Given the description of an element on the screen output the (x, y) to click on. 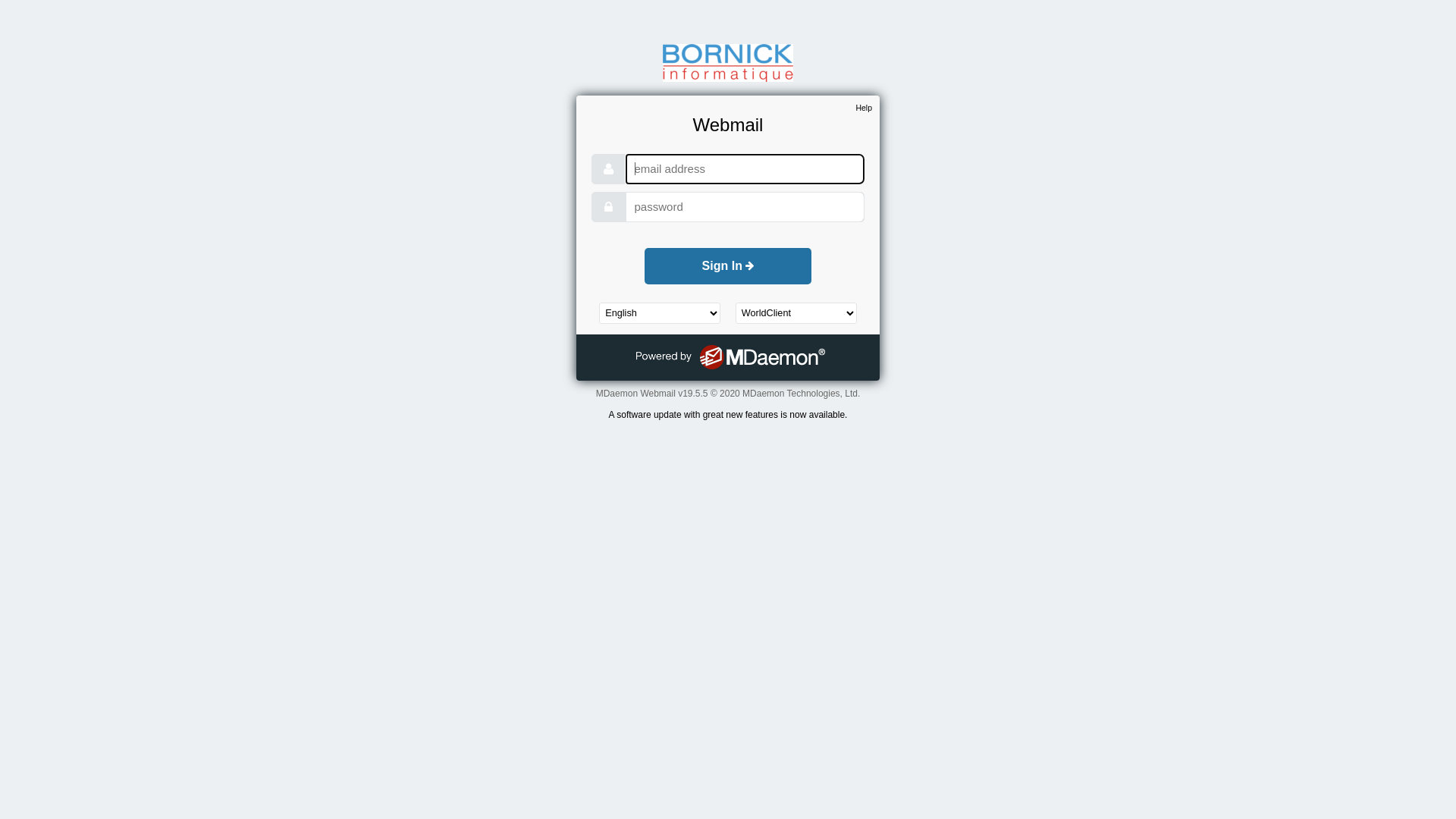
Sign In Element type: text (727, 265)
Help Element type: text (863, 107)
